Given the description of an element on the screen output the (x, y) to click on. 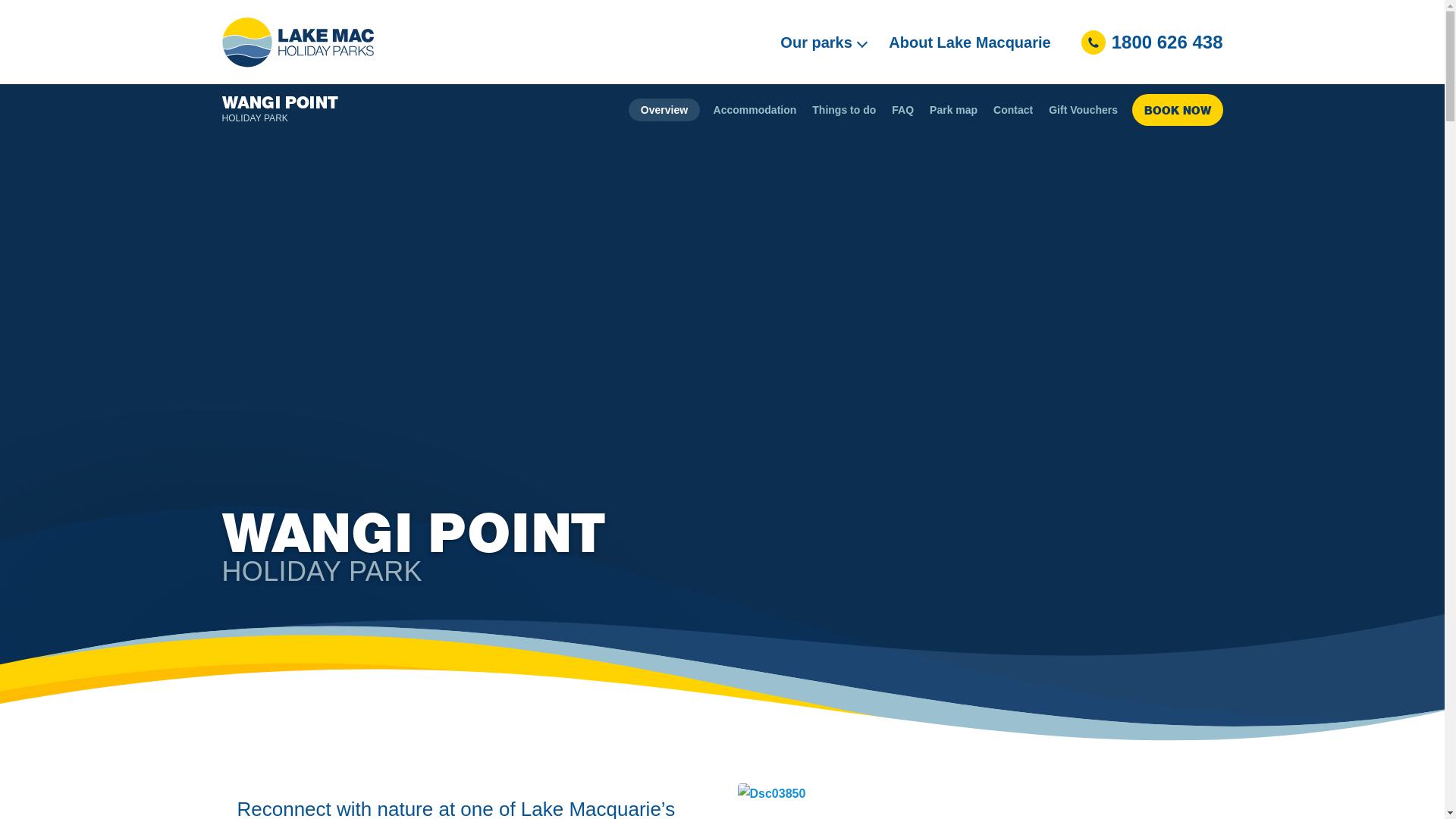
Contact Element type: text (1013, 109)
About Lake Macquarie Element type: text (969, 41)
Our parks Element type: text (823, 41)
Gift Vouchers Element type: text (1083, 109)
Things to do Element type: text (844, 109)
1800 626 438 Element type: text (1152, 41)
BOOK NOW Element type: text (1176, 109)
Overview Element type: text (663, 109)
Accommodation Element type: text (754, 109)
Park map Element type: text (953, 109)
FAQ Element type: text (903, 109)
